Given the description of an element on the screen output the (x, y) to click on. 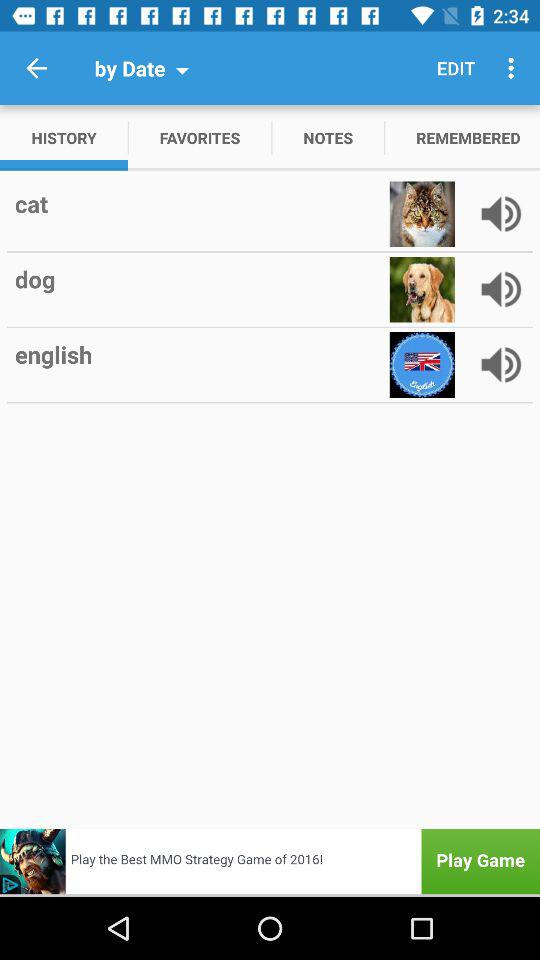
select icon above remembered icon (455, 67)
